Given the description of an element on the screen output the (x, y) to click on. 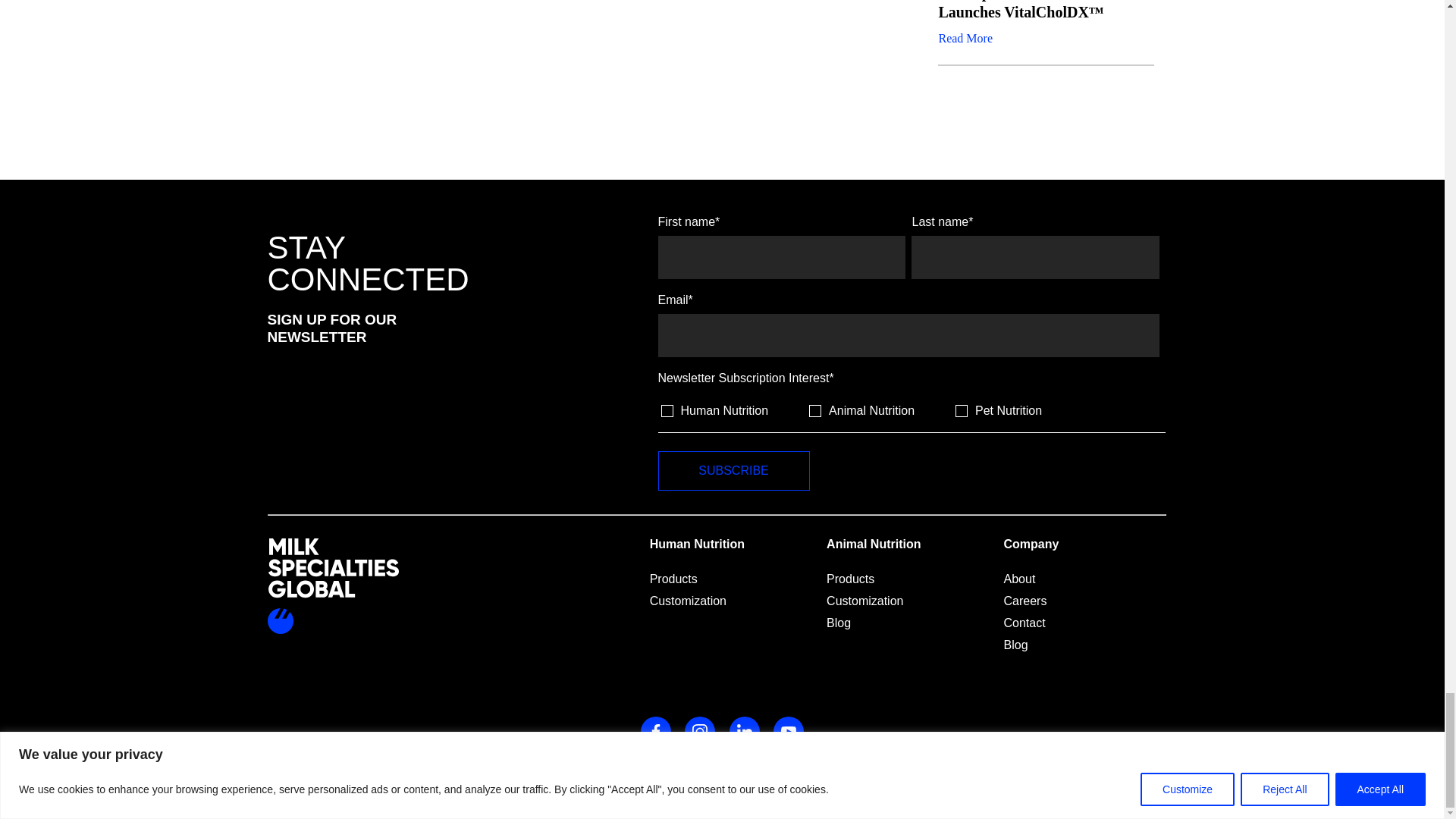
Subscribe (733, 470)
Human Nutrition Ingredients (666, 410)
Animal Nutrition (815, 410)
Pet Nutrition (961, 410)
